Given the description of an element on the screen output the (x, y) to click on. 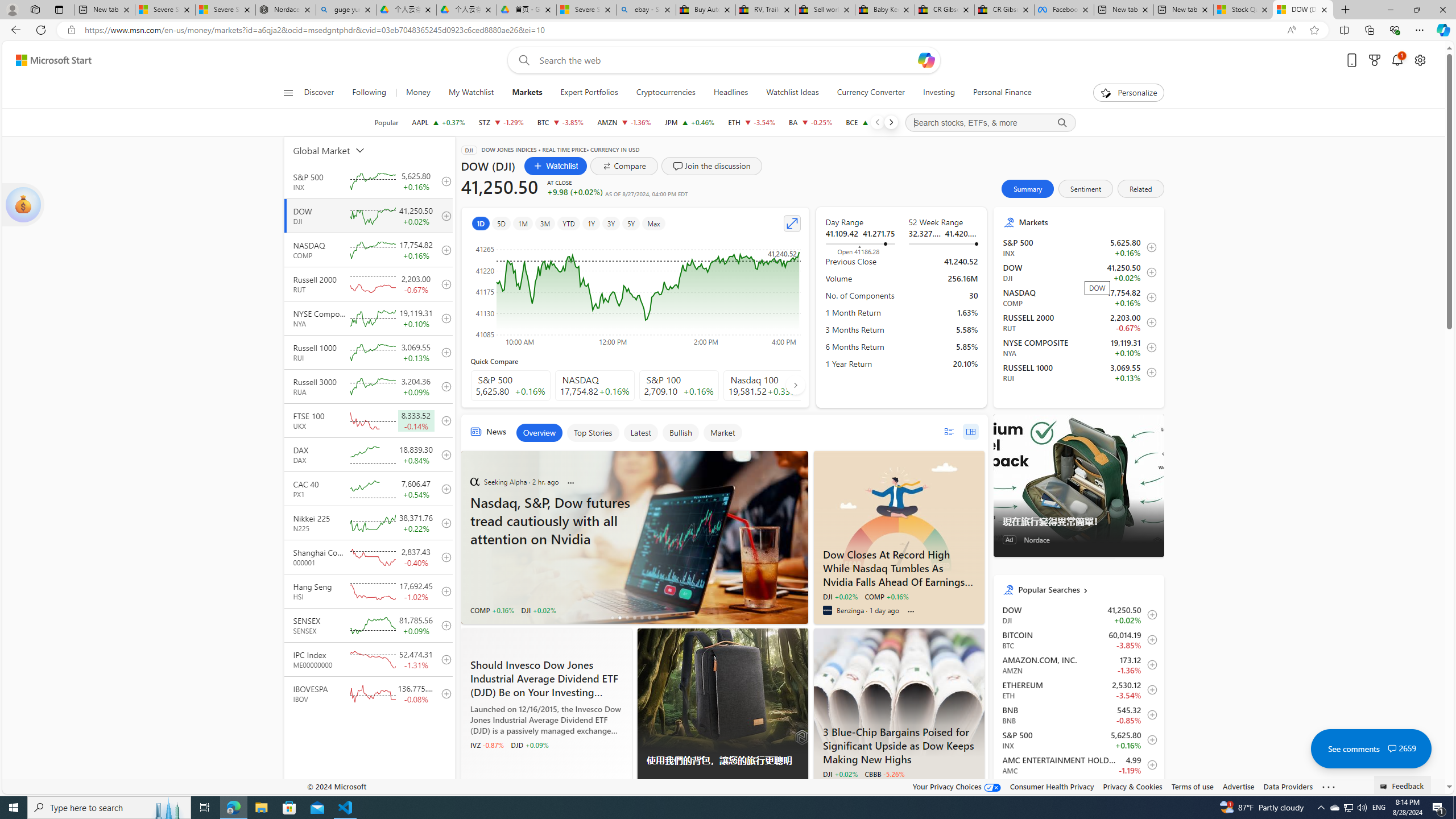
STZ CONSTELLATION BRANDS, INC. decrease 239.98 -3.13 -1.29% (500, 122)
BA THE BOEING COMPANY decrease 173.05 -0.43 -0.25% (810, 122)
